Given the description of an element on the screen output the (x, y) to click on. 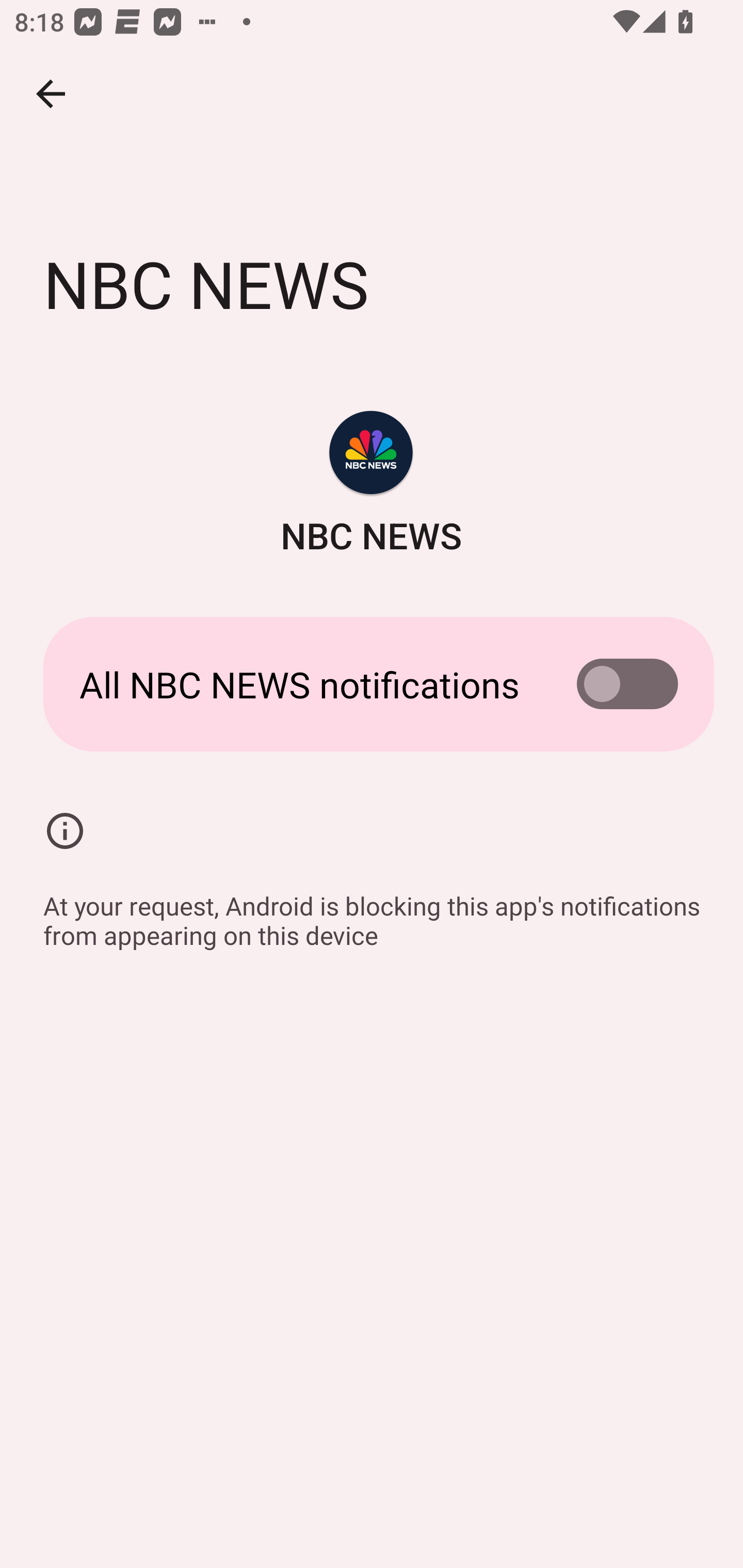
Navigate up (50, 93)
NBC NEWS (371, 484)
All NBC NEWS notifications (371, 684)
